Given the description of an element on the screen output the (x, y) to click on. 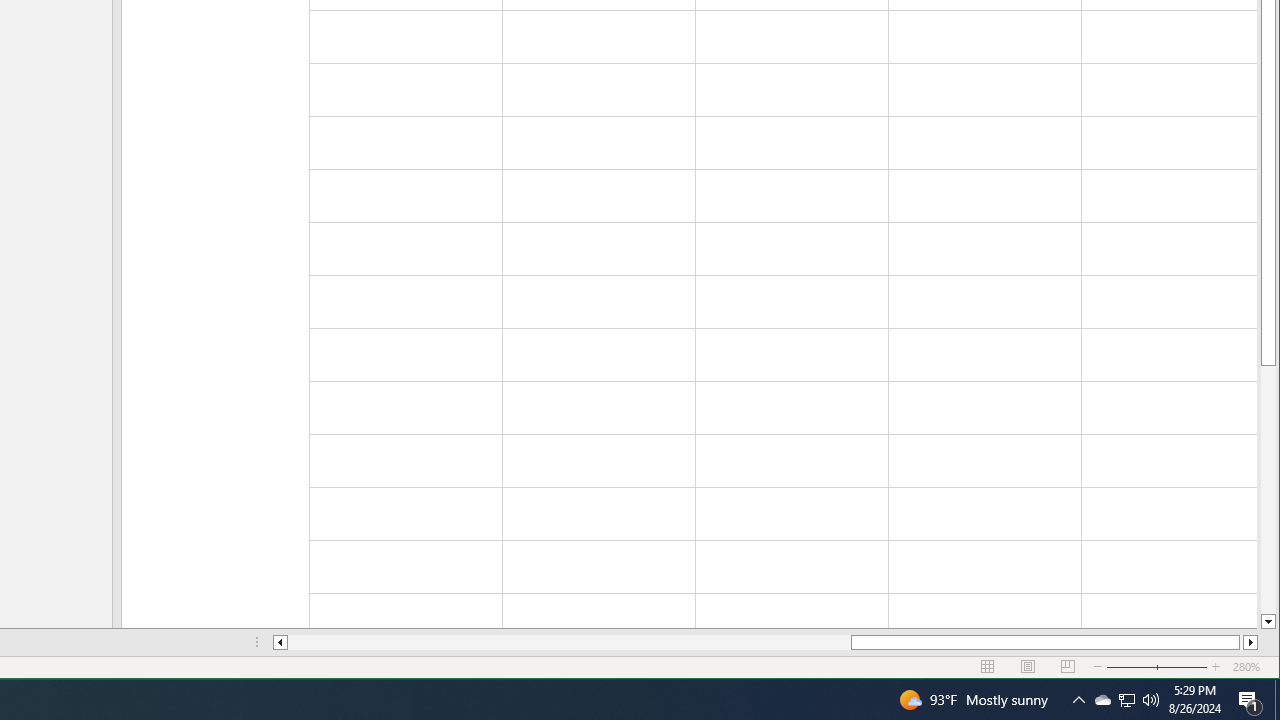
Action Center, 1 new notification (1250, 699)
